Given the description of an element on the screen output the (x, y) to click on. 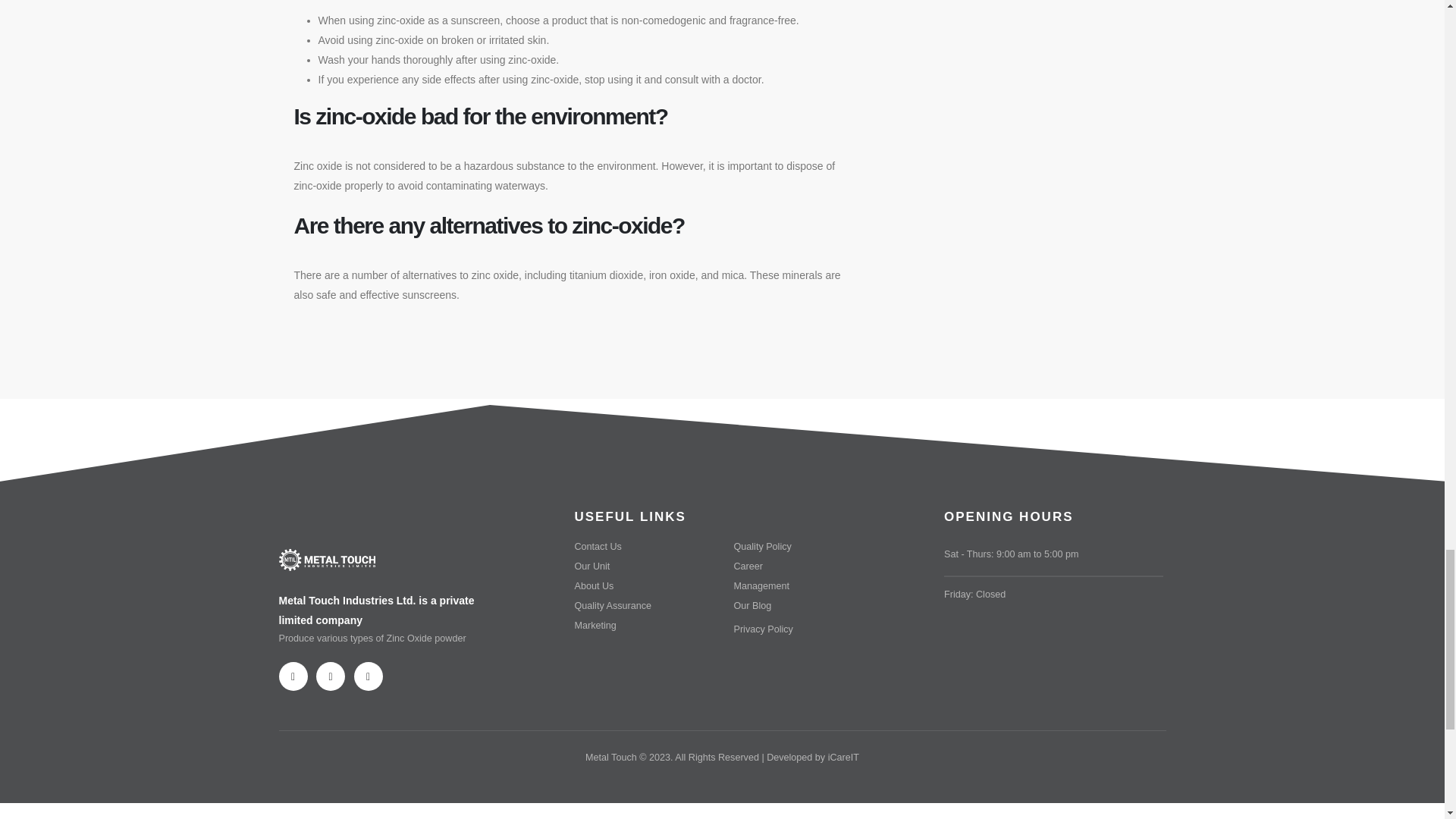
Instagram (367, 676)
Twitter (330, 676)
Facebook (293, 676)
